Given the description of an element on the screen output the (x, y) to click on. 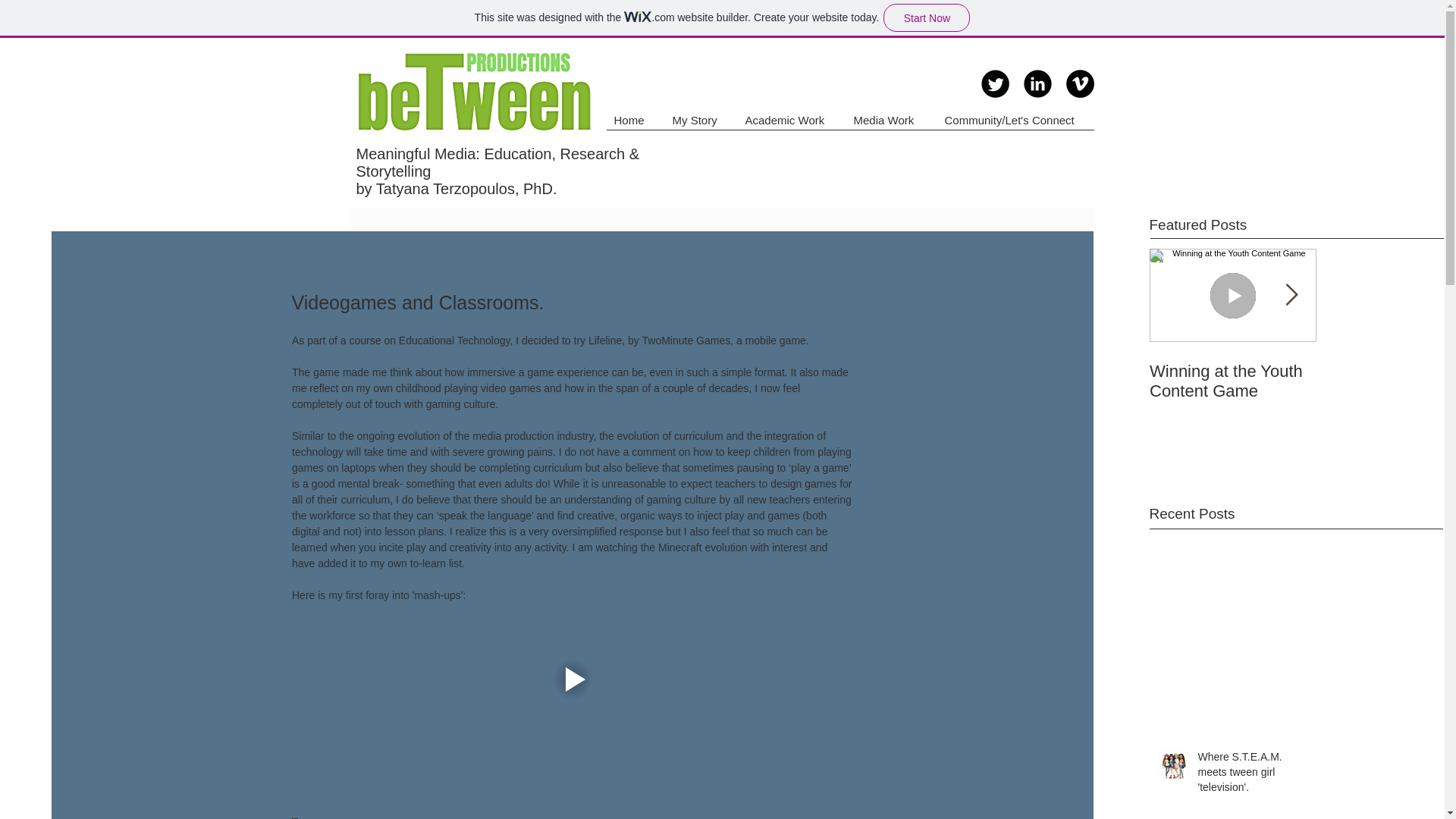
Media Work (891, 125)
Academic Work (790, 125)
Winning at the Youth Content Game (1233, 381)
Where S.T.E.A.M. meets tween girl 'television'. (1252, 775)
Home (636, 125)
My Story (699, 125)
